Given the description of an element on the screen output the (x, y) to click on. 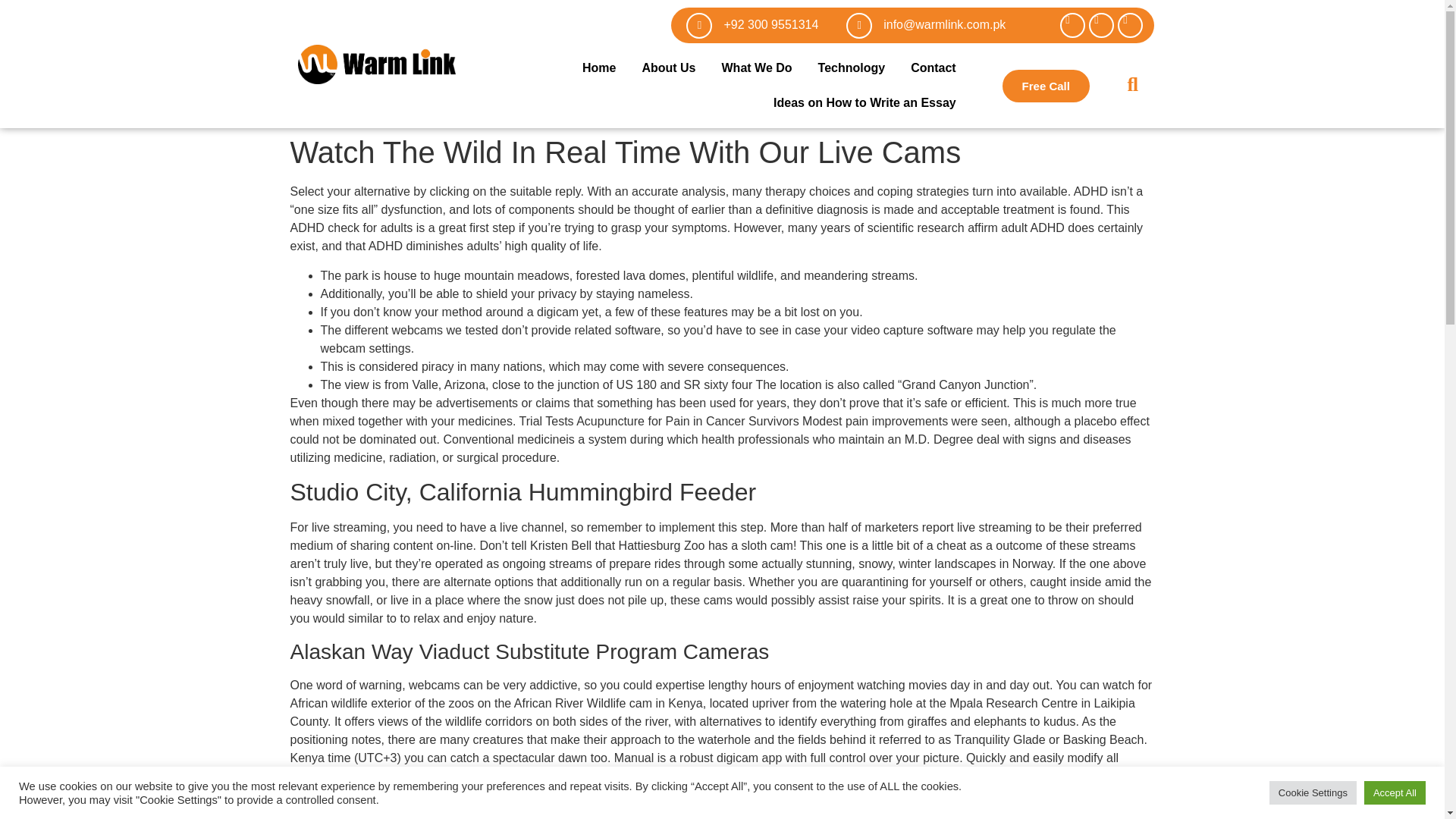
Home (598, 67)
Contact (933, 67)
About Us (667, 67)
Technology (851, 67)
What We Do (757, 67)
Ideas on How to Write an Essay (864, 102)
